Given the description of an element on the screen output the (x, y) to click on. 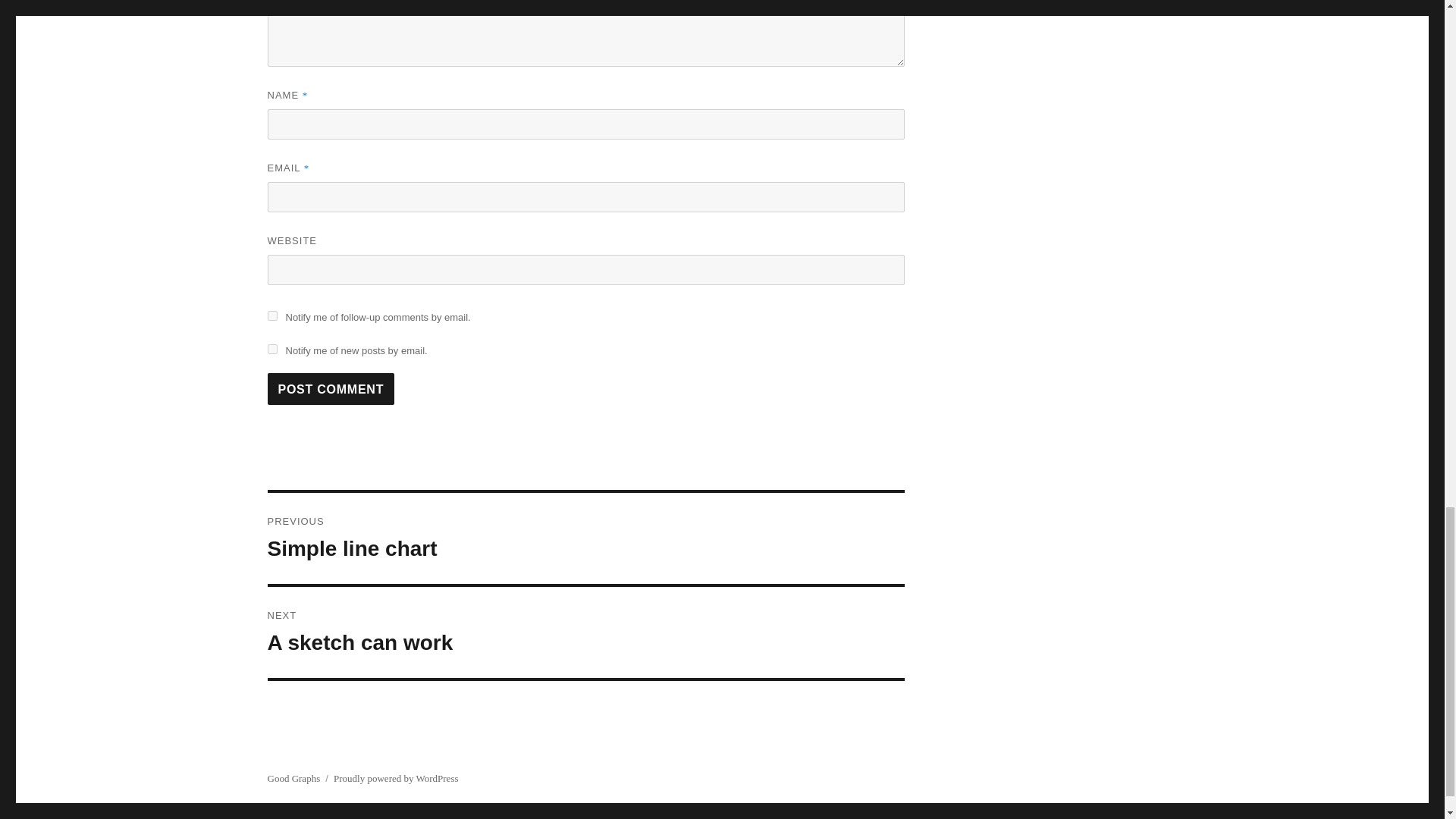
subscribe (585, 632)
subscribe (271, 316)
Post Comment (271, 348)
Post Comment (330, 388)
